Given the description of an element on the screen output the (x, y) to click on. 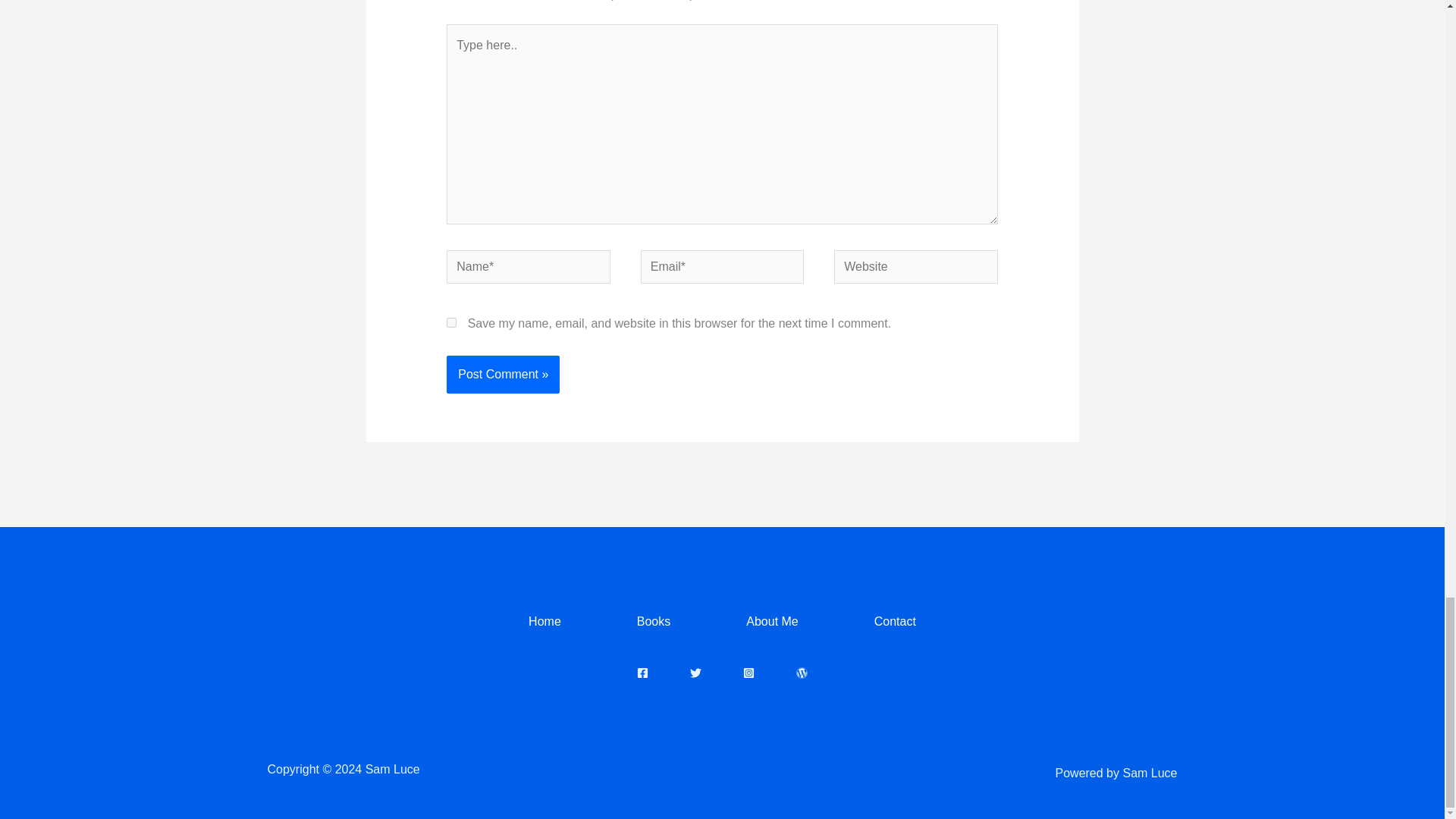
yes (451, 322)
Books (652, 621)
About Me (771, 621)
Home (544, 621)
Contact (894, 621)
